Given the description of an element on the screen output the (x, y) to click on. 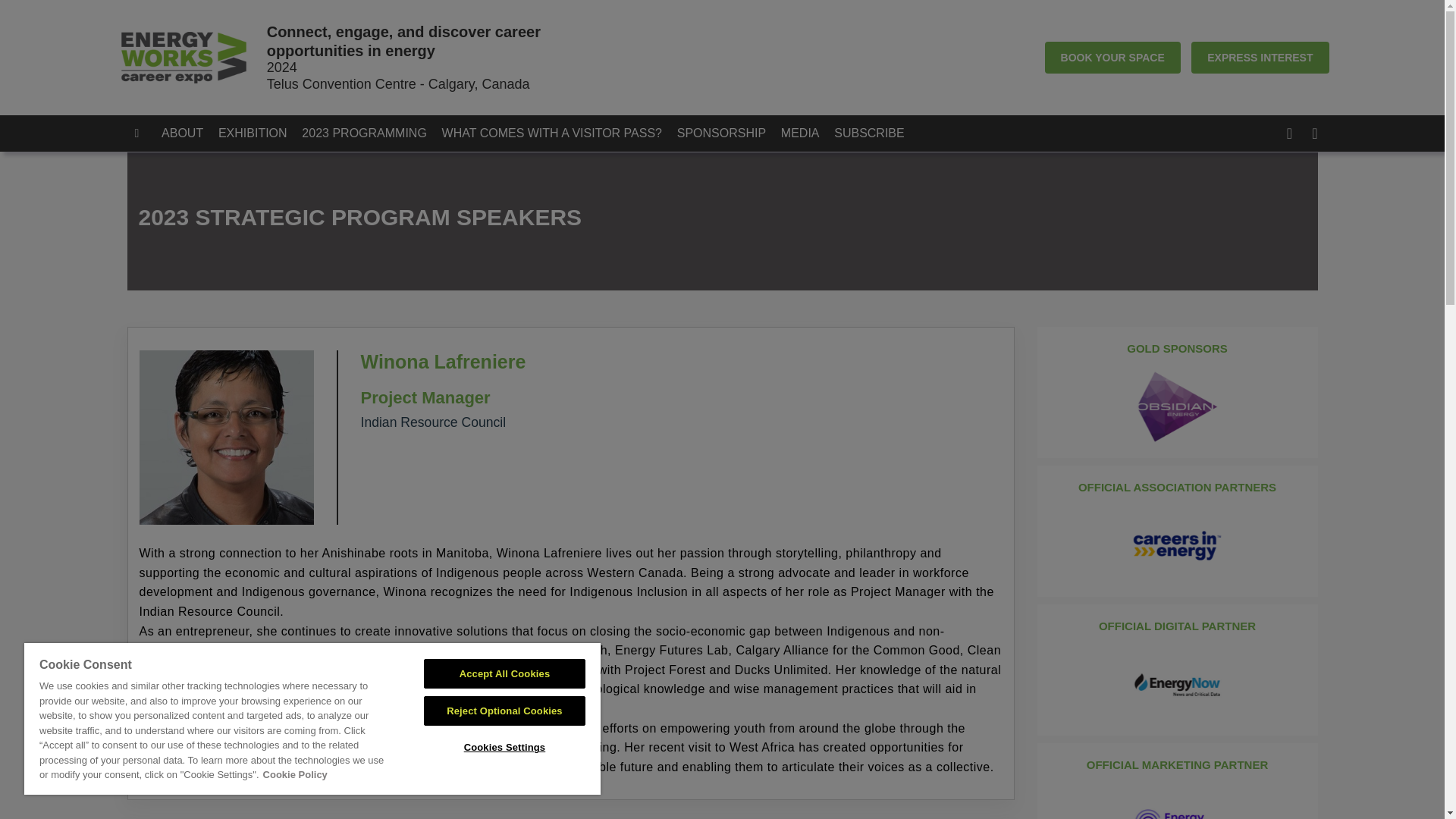
SPONSORSHIP (727, 133)
EXHIBITION (258, 133)
BOOK YOUR SPACE (1112, 57)
EXHIBITOR ZONE (975, 133)
ABOUT (187, 133)
WHAT COMES WITH A VISITOR PASS? (557, 133)
2023 PROGRAMMING (369, 133)
SUBSCRIBE (874, 133)
EXPRESS INTEREST (1259, 57)
MEDIA (805, 133)
